Given the description of an element on the screen output the (x, y) to click on. 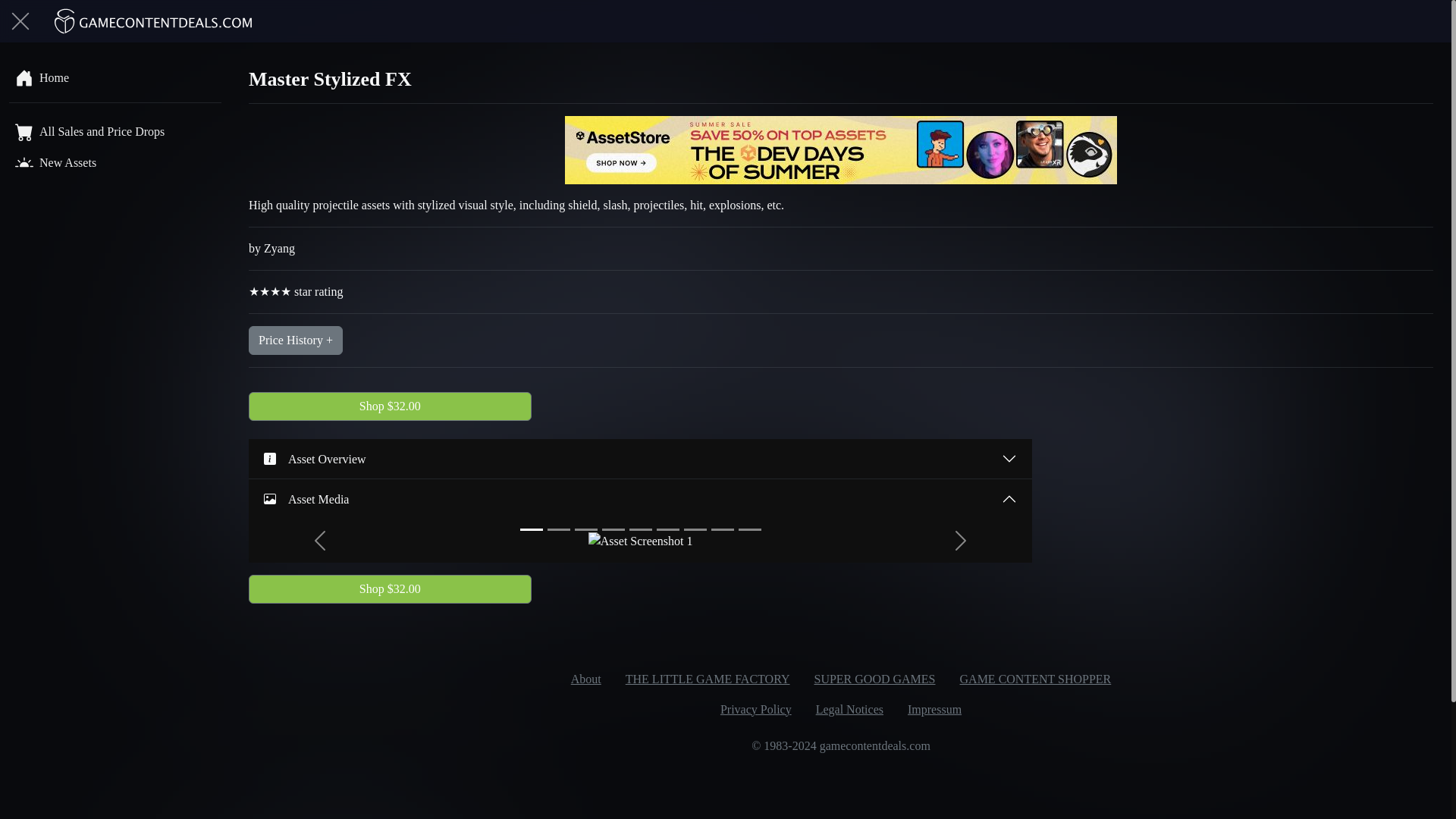
Home (114, 77)
Impressum (934, 709)
THE LITTLE GAME FACTORY (707, 679)
Legal Notices (849, 709)
GAME CONTENT SHOPPER (1035, 679)
Previous (320, 539)
New Assets (114, 162)
Asset Media (640, 498)
SUPER GOOD GAMES (874, 679)
About (585, 679)
